Given the description of an element on the screen output the (x, y) to click on. 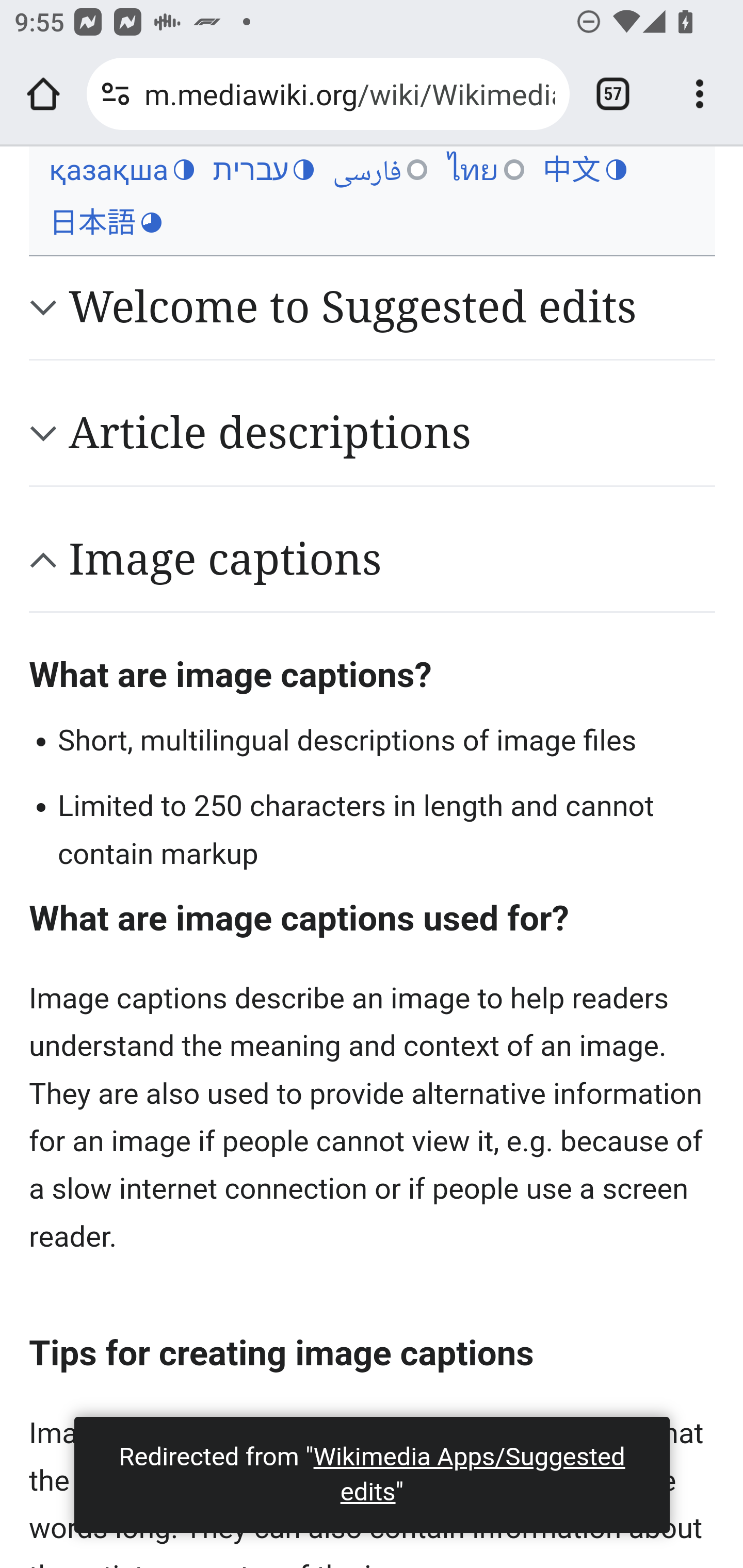
Open the home page (43, 93)
Connection is secure (115, 93)
Switch or close tabs (612, 93)
Customize and control Google Chrome (699, 93)
қазақша (121, 170)
עברית (263, 170)
فارسی (379, 170)
ไทย (484, 170)
中文 (583, 170)
日本語 (105, 222)
Welcome to Suggested edits (392, 306)
Article descriptions (392, 433)
Image captions (392, 558)
Wikimedia Apps/Suggested edits (469, 1473)
